Given the description of an element on the screen output the (x, y) to click on. 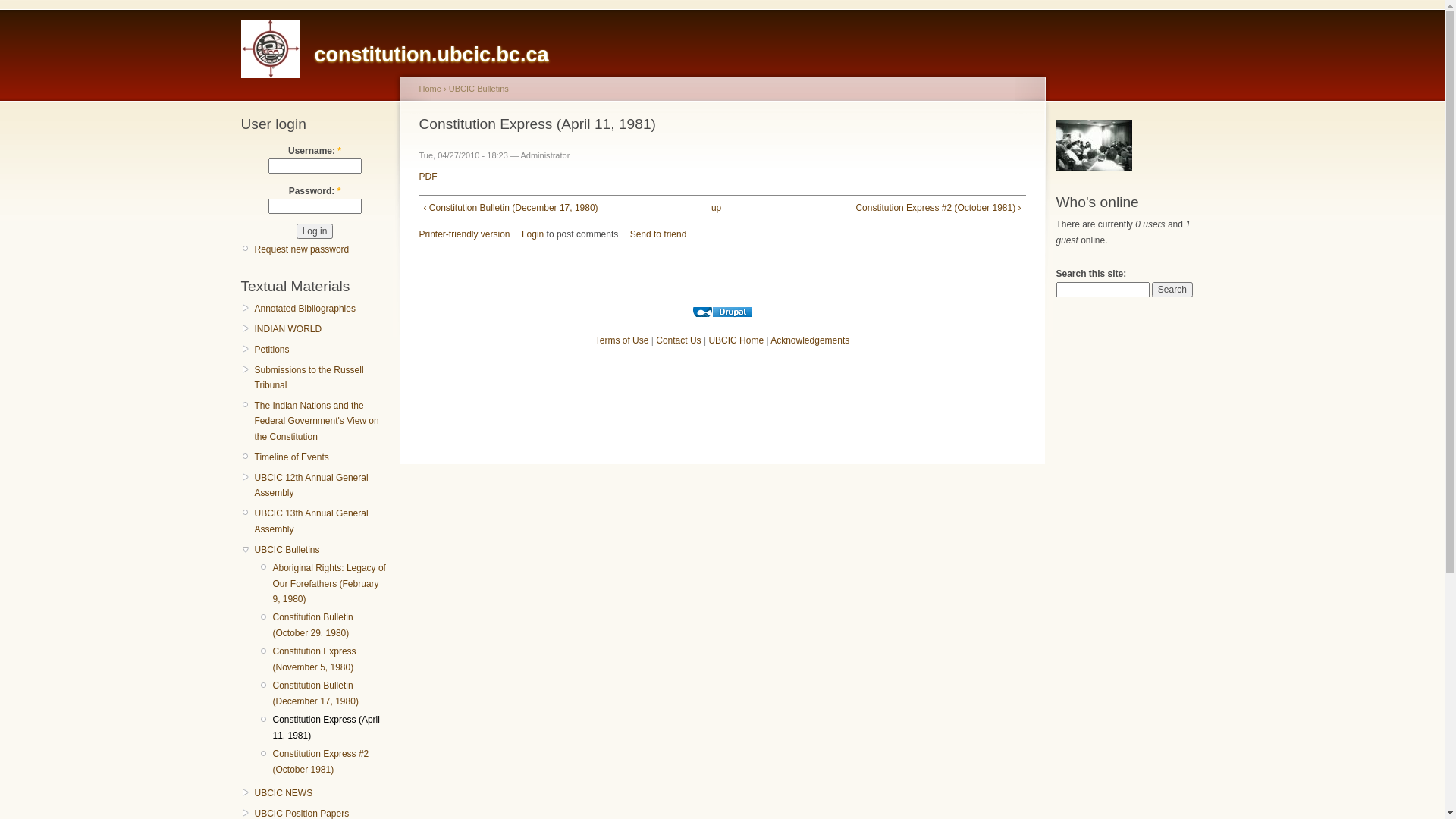
UBCIC NEWS Element type: text (321, 792)
Enter the terms you wish to search for. Element type: hover (1101, 289)
Send to friend Element type: text (658, 234)
Powered by Drupal, an open source content management system Element type: hover (721, 311)
Timeline of Events Element type: text (321, 456)
Home Element type: text (429, 88)
PDF Element type: text (427, 176)
up Element type: text (716, 207)
constitution.ubcic.bc.ca Element type: text (430, 54)
Constitution Express (November 5, 1980) Element type: text (331, 658)
UBCIC 13th Annual General Assembly Element type: text (321, 520)
Printer-friendly version Element type: text (463, 234)
Annotated Bibliographies Element type: text (321, 308)
Constitution Bulletin (October 29. 1980) Element type: text (331, 624)
INDIAN WORLD Element type: text (321, 328)
UBCIC Bulletins Element type: text (478, 88)
UBCIC 12th Annual General Assembly Element type: text (321, 485)
Acknowledgements Element type: text (809, 340)
UBCIC Bulletins Element type: text (321, 549)
Constitution Express #2 (October 1981) Element type: text (331, 761)
Contact Us Element type: text (677, 340)
Constitution Bulletin (December 17, 1980) Element type: text (331, 693)
Submissions to the Russell Tribunal Element type: text (321, 377)
Log in Element type: text (314, 230)
UBCIC Home Element type: text (735, 340)
Constitution Express (April 11, 1981) Element type: text (331, 727)
Petitions Element type: text (321, 349)
Search Element type: text (1171, 289)
Request new password Element type: text (301, 249)
ce-667-0003 Element type: hover (1093, 144)
Terms of Use Element type: text (622, 340)
Login Element type: text (532, 234)
